Given the description of an element on the screen output the (x, y) to click on. 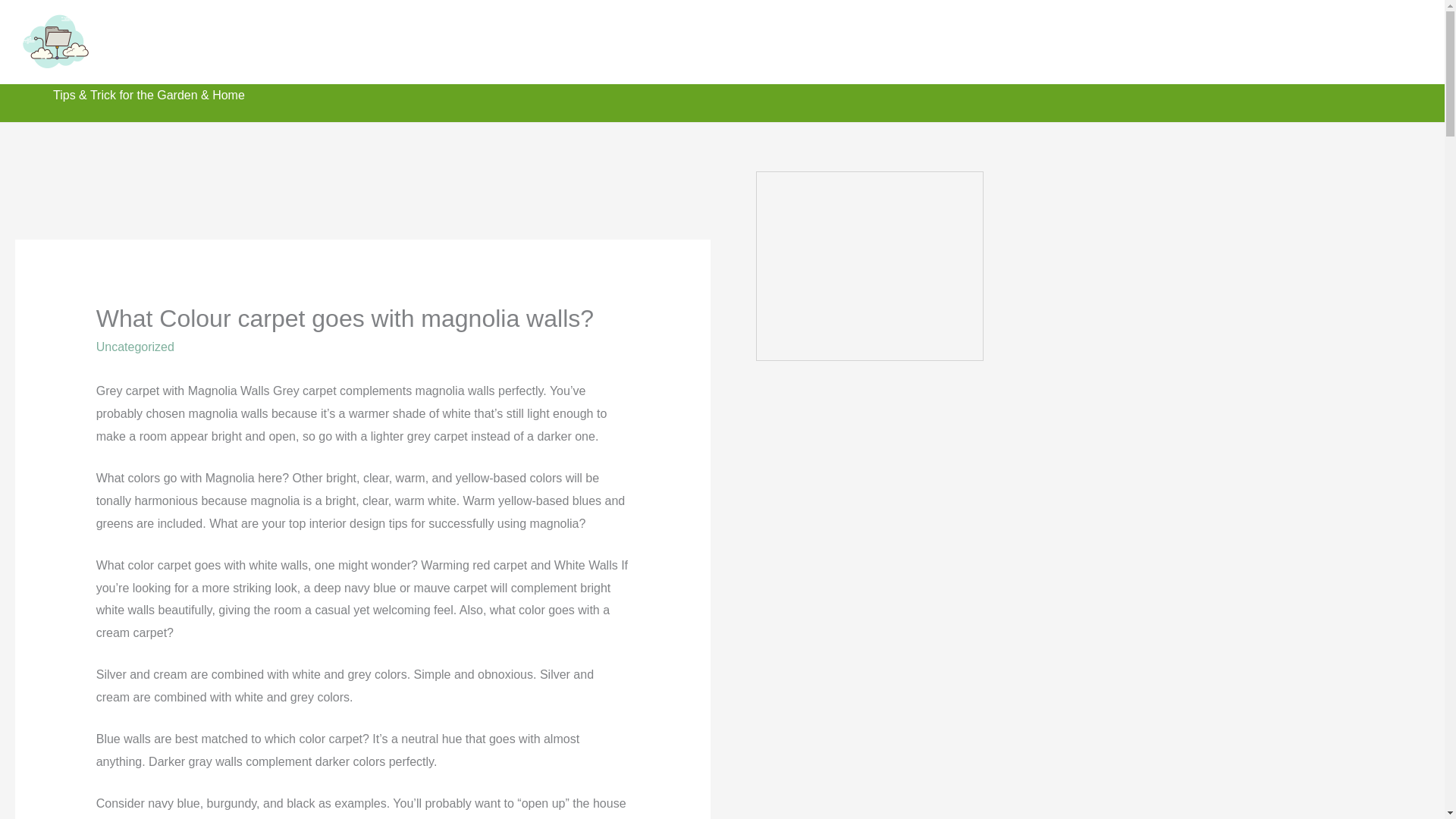
Contact Us (1286, 41)
TipsFolder.com (198, 41)
Gardening Techniques (928, 41)
Privacy Policy (1379, 41)
Fruits (1143, 41)
About Us (1207, 41)
